Given the description of an element on the screen output the (x, y) to click on. 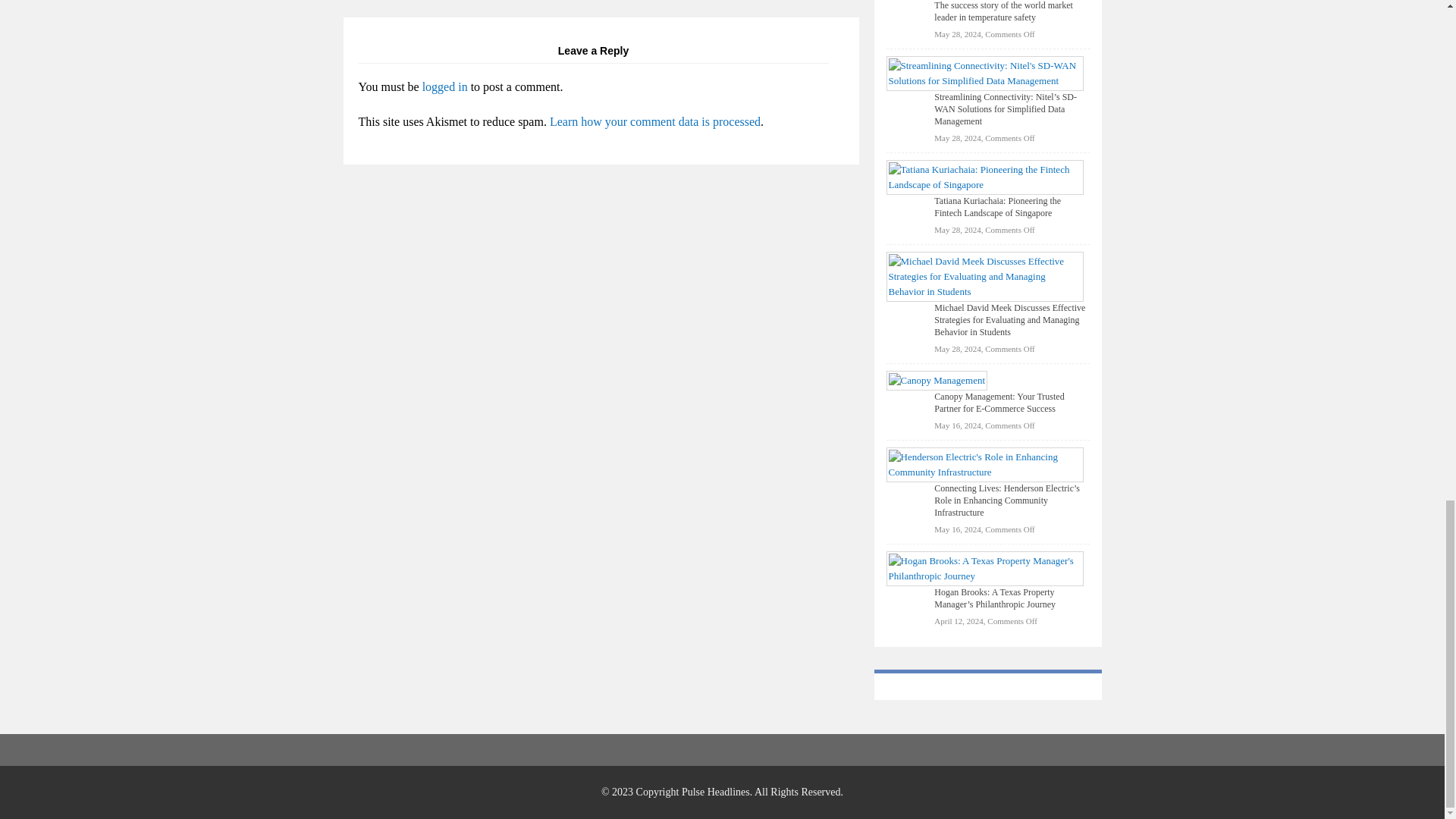
logged in (444, 86)
Learn how your comment data is processed (655, 121)
